Given the description of an element on the screen output the (x, y) to click on. 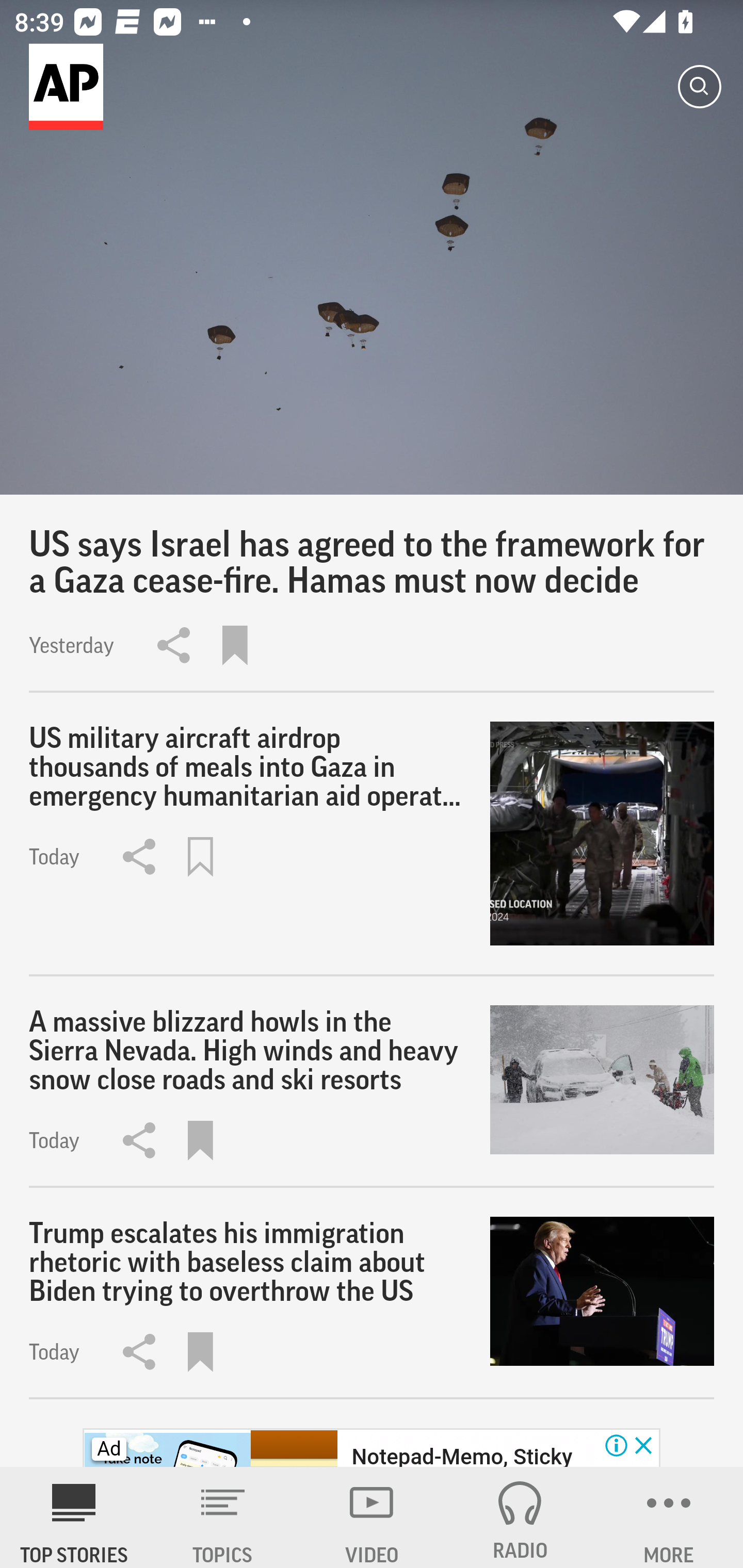
Notepad-Memo, Sticky Notebooks (461, 1454)
AP News TOP STORIES (74, 1517)
TOPICS (222, 1517)
VIDEO (371, 1517)
RADIO (519, 1517)
MORE (668, 1517)
Install (614, 1511)
